Given the description of an element on the screen output the (x, y) to click on. 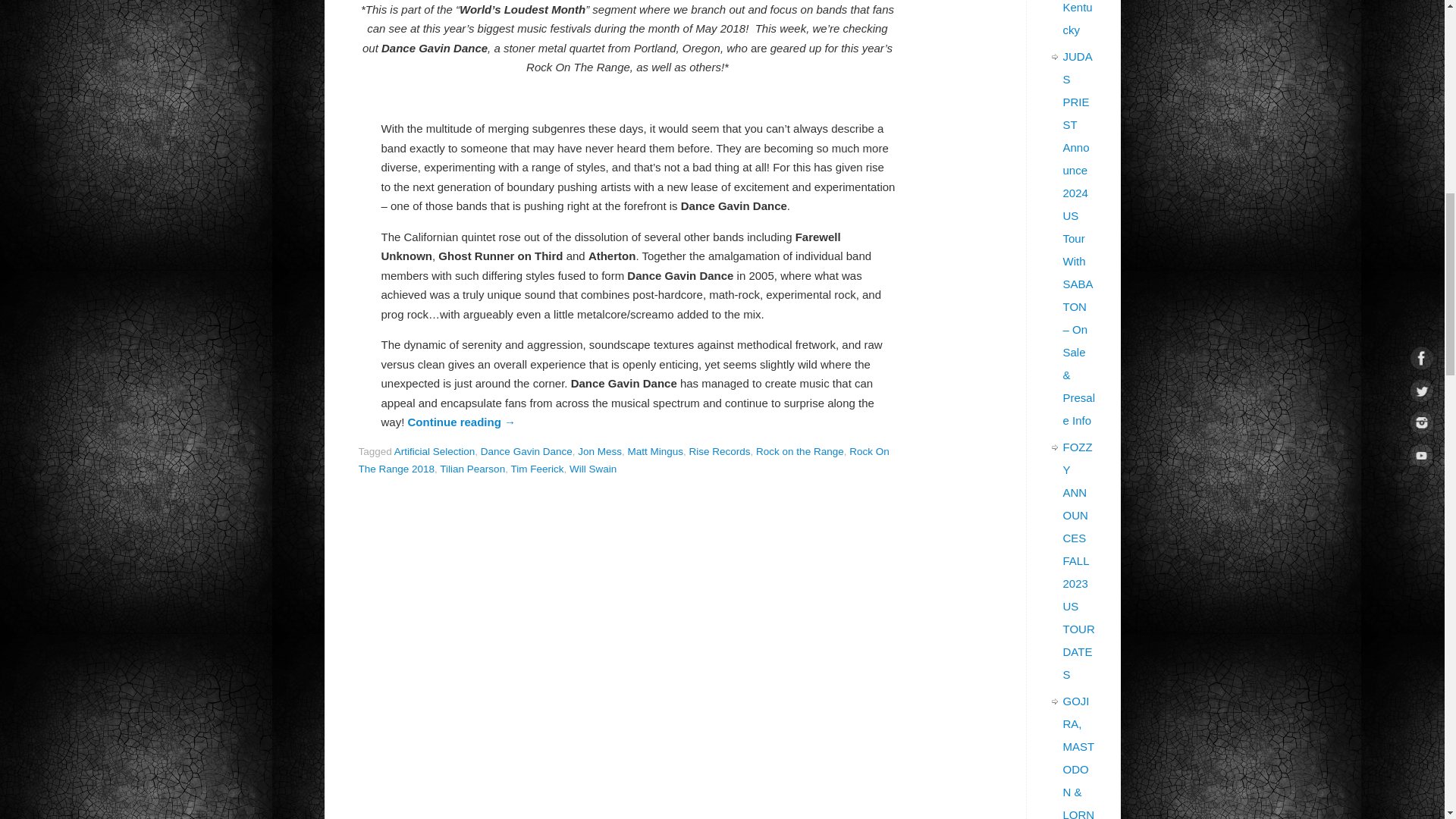
Jon Mess (599, 451)
Tim Feerick (537, 469)
Tesla Keeps It Real In Ashland, Kentucky (1079, 18)
Dance Gavin Dance (526, 451)
Will Swain (592, 469)
Rise Records (719, 451)
Artificial Selection (435, 451)
Tilian Pearson (472, 469)
Rock On The Range 2018 (623, 460)
Rock on the Range (799, 451)
Matt Mingus (655, 451)
